Given the description of an element on the screen output the (x, y) to click on. 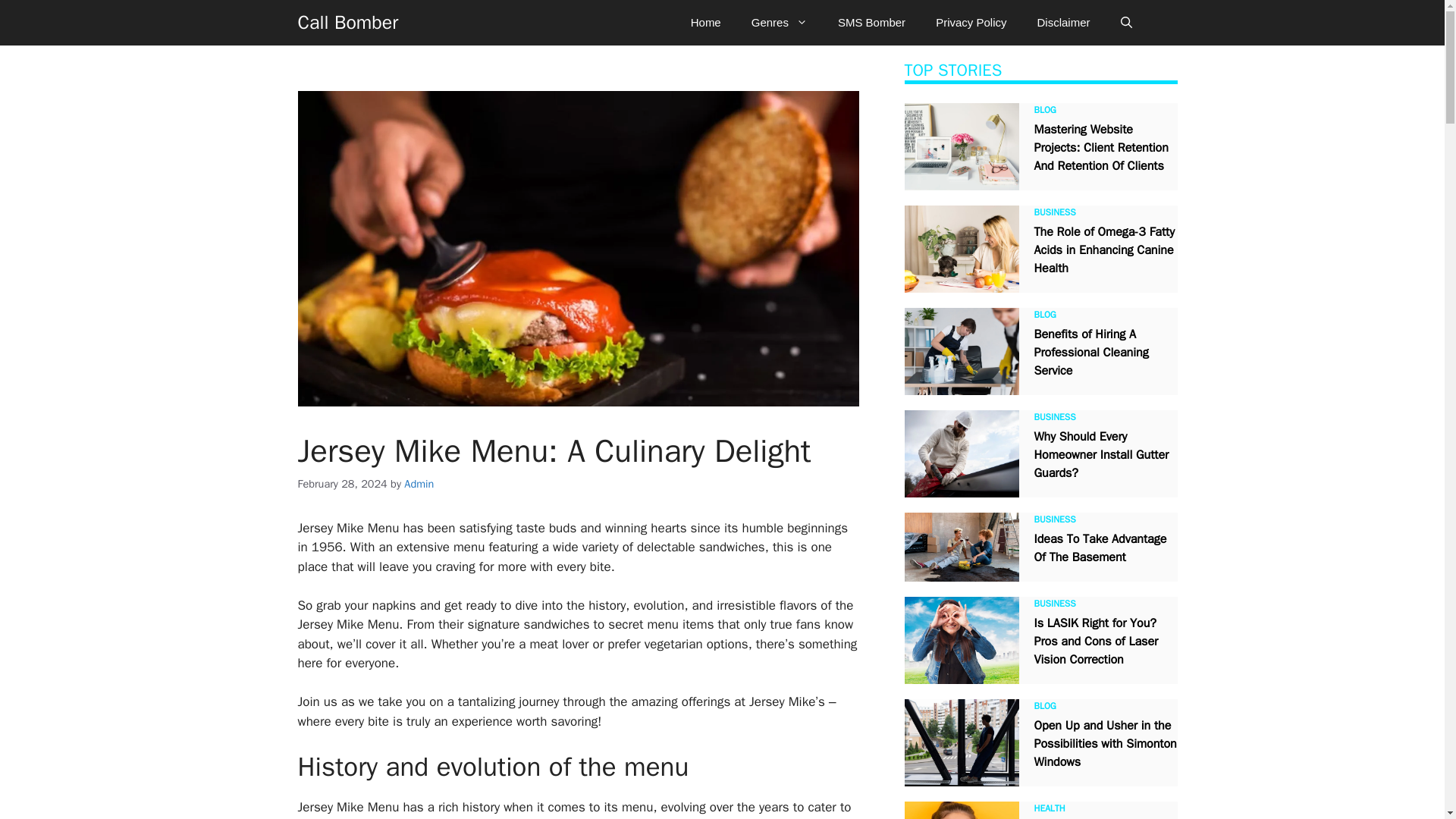
Genres (779, 22)
Disclaimer (1063, 22)
BLOG (1045, 314)
SMS Bomber (871, 22)
Benefits of Hiring A Professional Cleaning Service (1090, 352)
BLOG (1045, 110)
Call Bomber (347, 22)
Privacy Policy (971, 22)
BUSINESS (1054, 417)
Home (705, 22)
BUSINESS (1054, 212)
Admin (418, 483)
The Role of Omega-3 Fatty Acids in Enhancing Canine Health (1103, 250)
View all posts by Admin (418, 483)
